Given the description of an element on the screen output the (x, y) to click on. 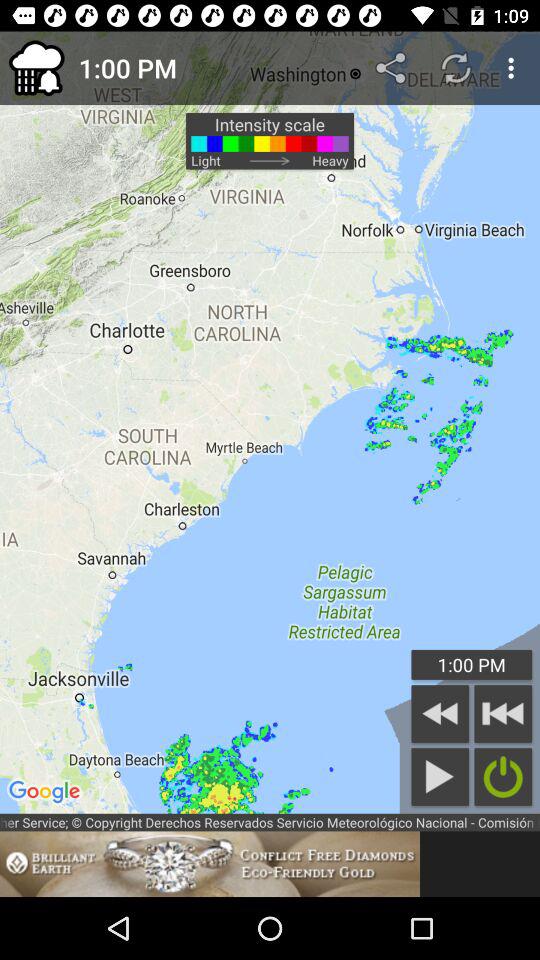
rewind (440, 713)
